Given the description of an element on the screen output the (x, y) to click on. 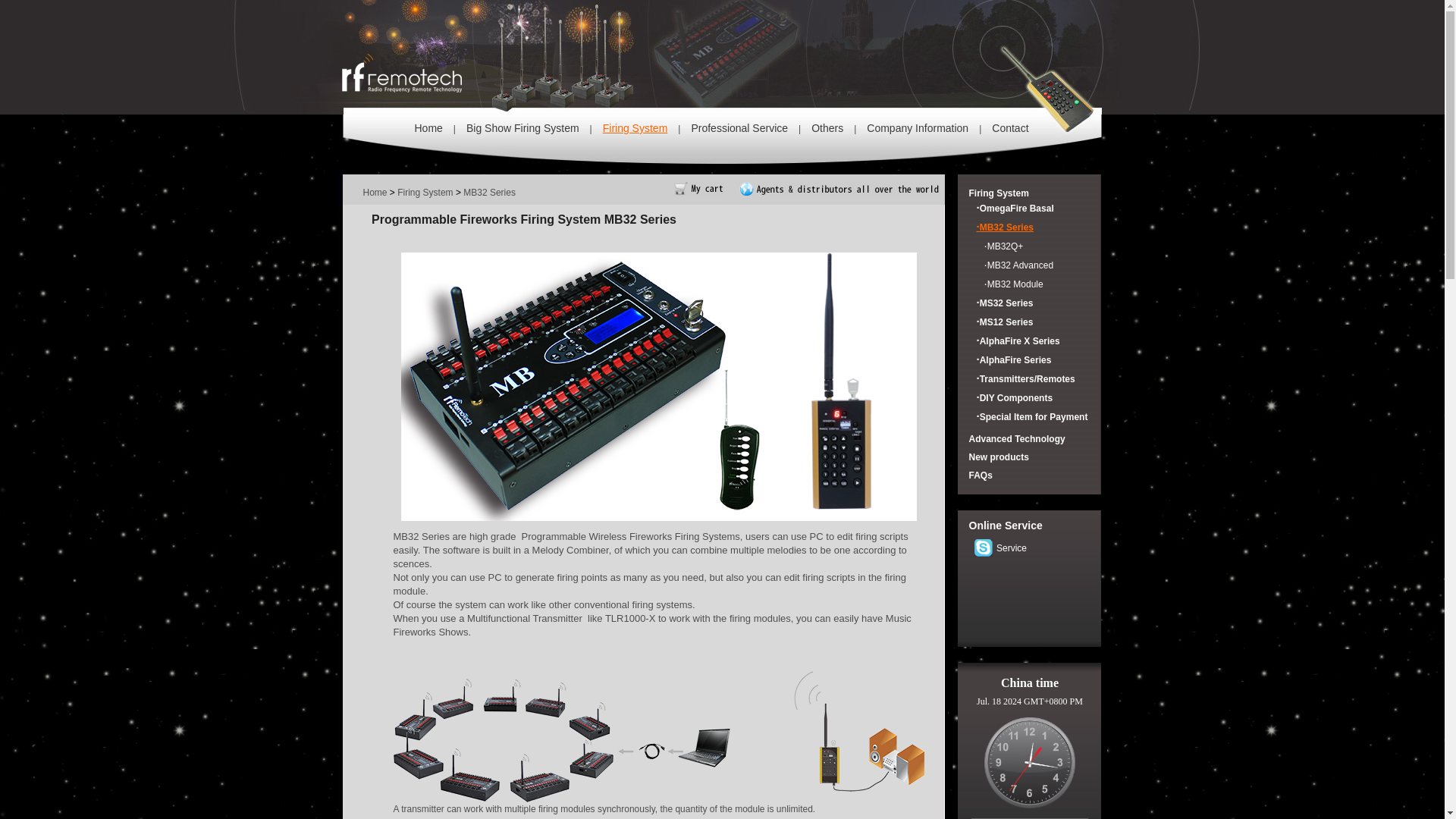
Others (826, 128)
Contact (1009, 128)
Big Show Firing System (522, 128)
RFRemotech Firing System (427, 128)
Firing System (635, 128)
MB32 Series (489, 192)
Home (374, 192)
Firing System (999, 193)
Home (427, 128)
RFRemotech Firing System (374, 192)
Firing System (424, 192)
Company Information (917, 128)
Professional Service (738, 128)
